Given the description of an element on the screen output the (x, y) to click on. 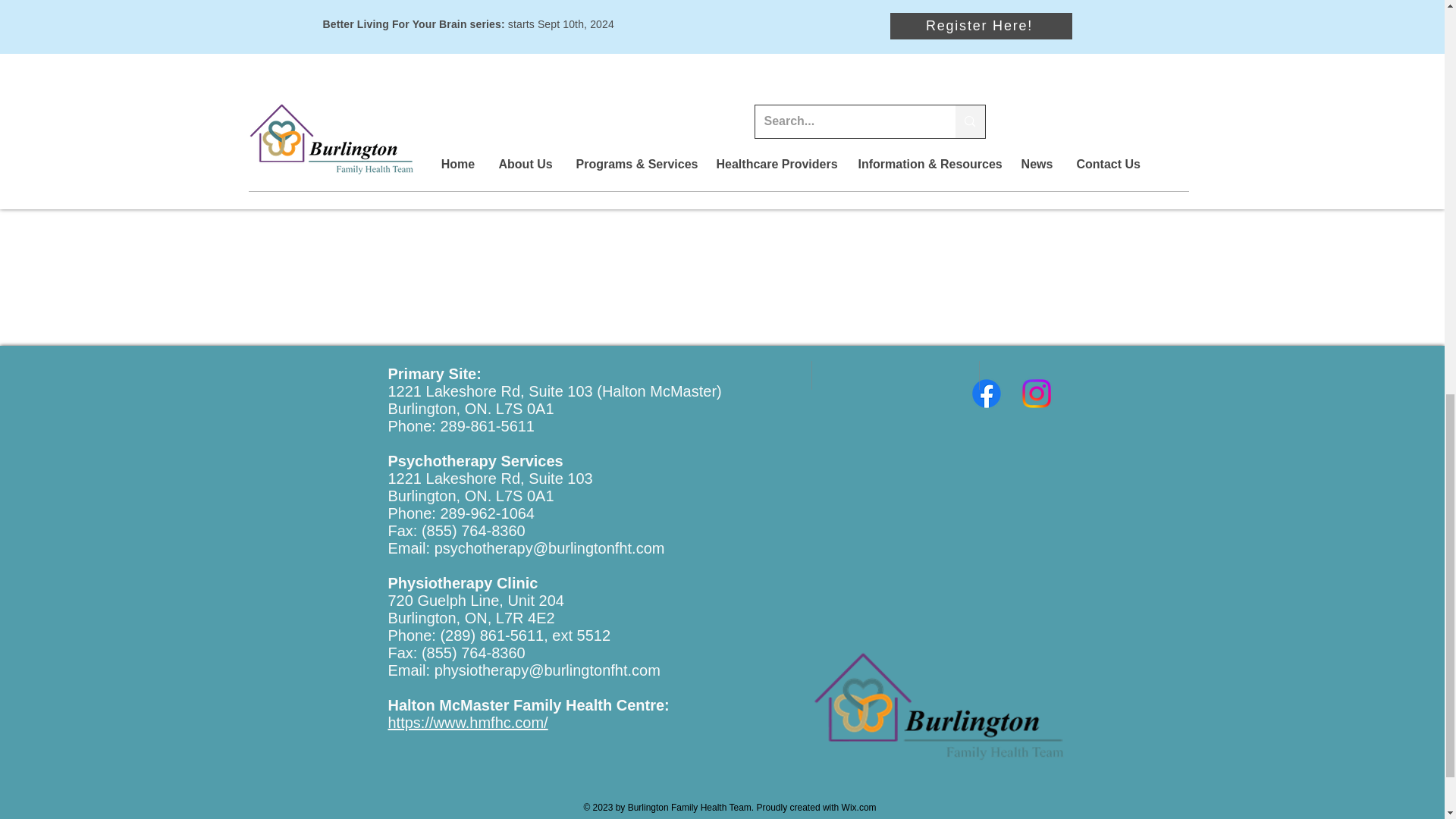
Wix.com (858, 807)
